Given the description of an element on the screen output the (x, y) to click on. 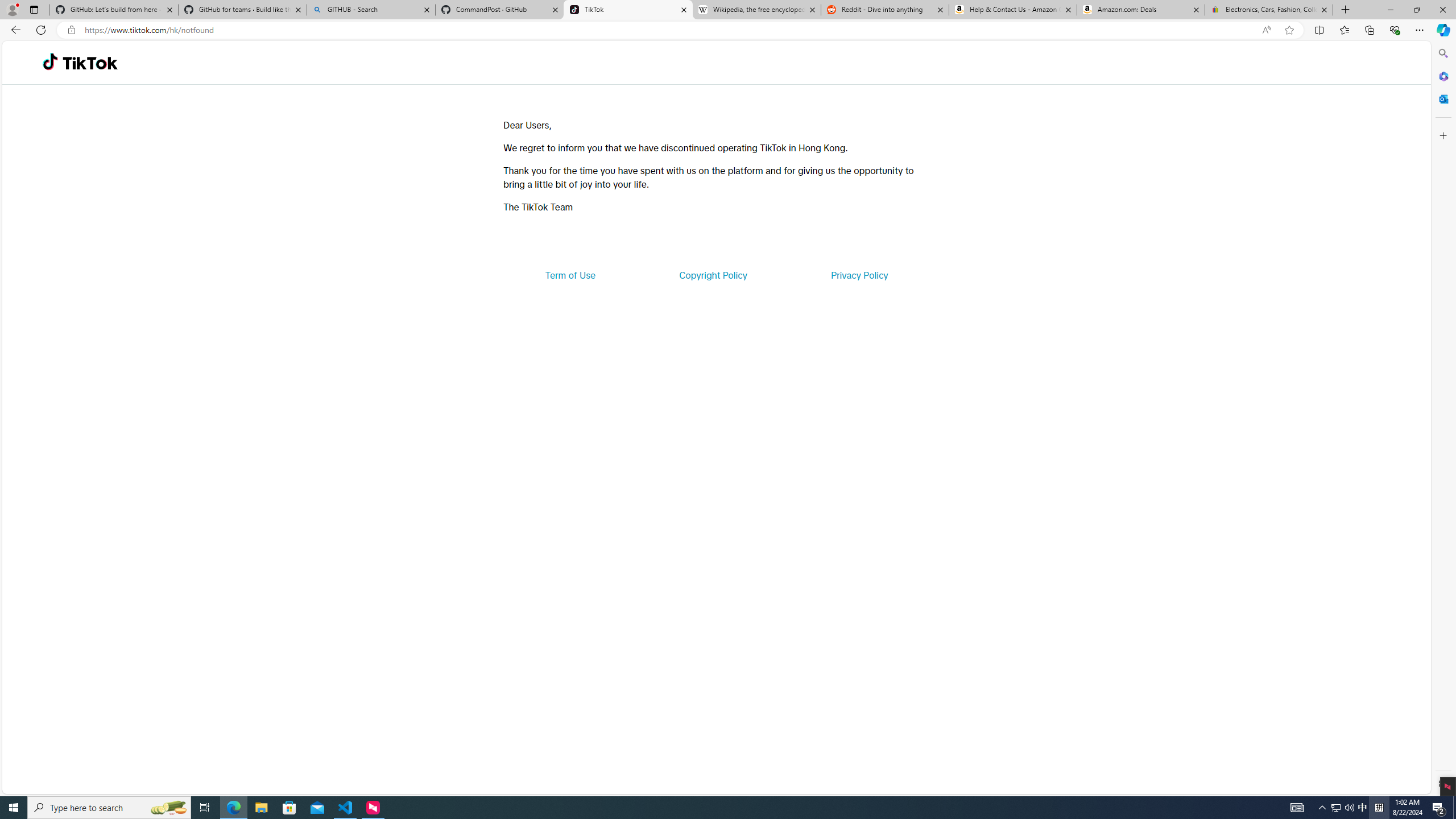
Reddit - Dive into anything (884, 9)
Help & Contact Us - Amazon Customer Service (1012, 9)
TikTok (89, 62)
Wikipedia, the free encyclopedia (756, 9)
